Given the description of an element on the screen output the (x, y) to click on. 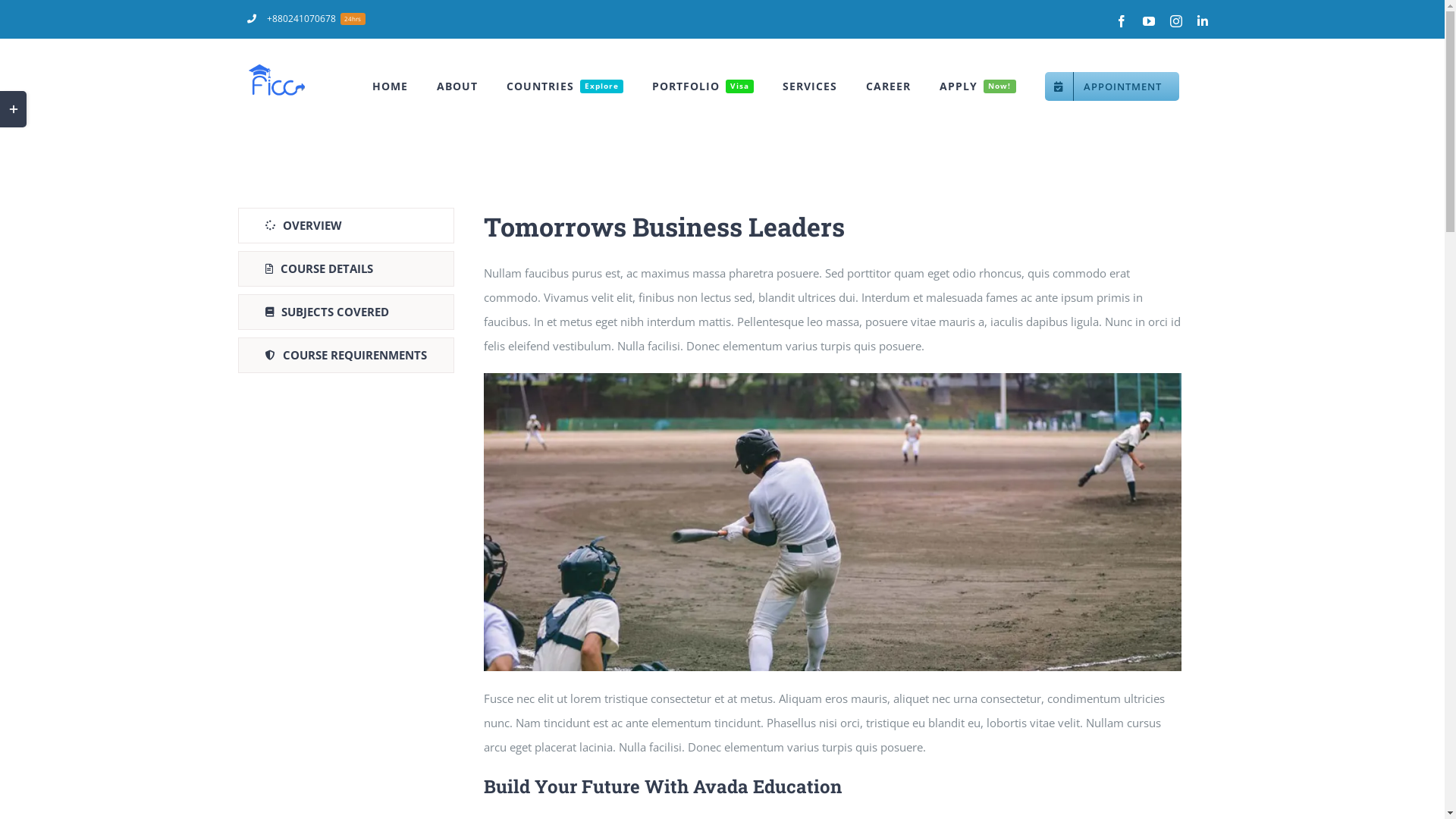
SERVICES Element type: text (809, 86)
APPLY
Now! Element type: text (977, 86)
CAREER Element type: text (888, 86)
COURSE REQUIRENMENTS Element type: text (346, 355)
Instagram Element type: text (1176, 21)
ABOUT Element type: text (456, 86)
SUBJECTS COVERED Element type: text (346, 311)
COURSE DETAILS Element type: text (346, 268)
Toggle Sliding Bar Area Element type: text (13, 109)
+880241070678
24hrs Element type: text (305, 18)
PORTFOLIO
Visa Element type: text (702, 86)
HOME Element type: text (389, 86)
OVERVIEW Element type: text (346, 225)
APPOINTMENT Element type: text (1111, 86)
Facebook Element type: text (1121, 21)
YouTube Element type: text (1148, 21)
COUNTRIES
Explore Element type: text (564, 86)
LinkedIn Element type: text (1202, 21)
